Given the description of an element on the screen output the (x, y) to click on. 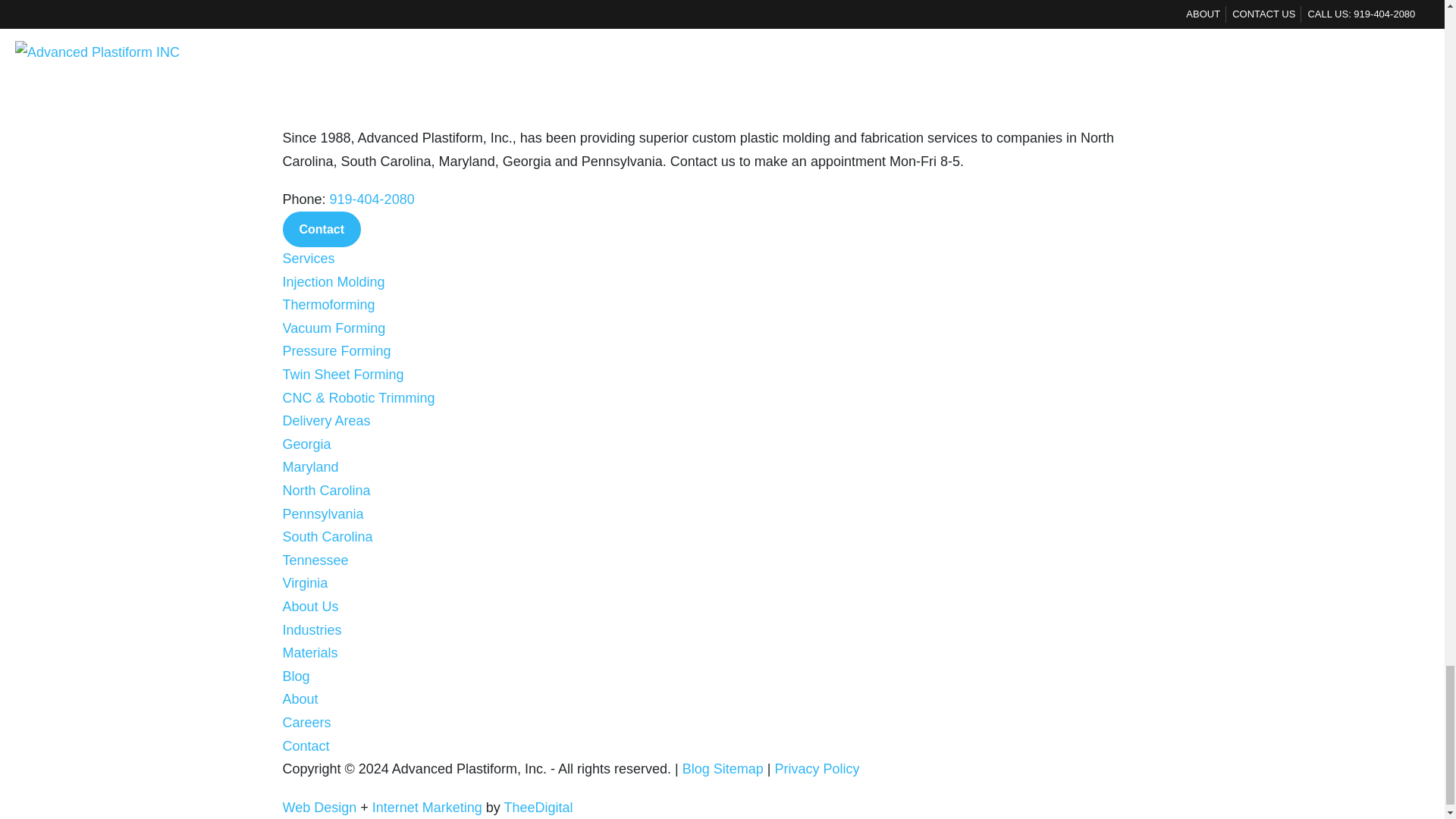
Raleigh Web Design Agency (537, 807)
Raleigh Digital Marketing (426, 807)
Raleigh Web Design (319, 807)
